Given the description of an element on the screen output the (x, y) to click on. 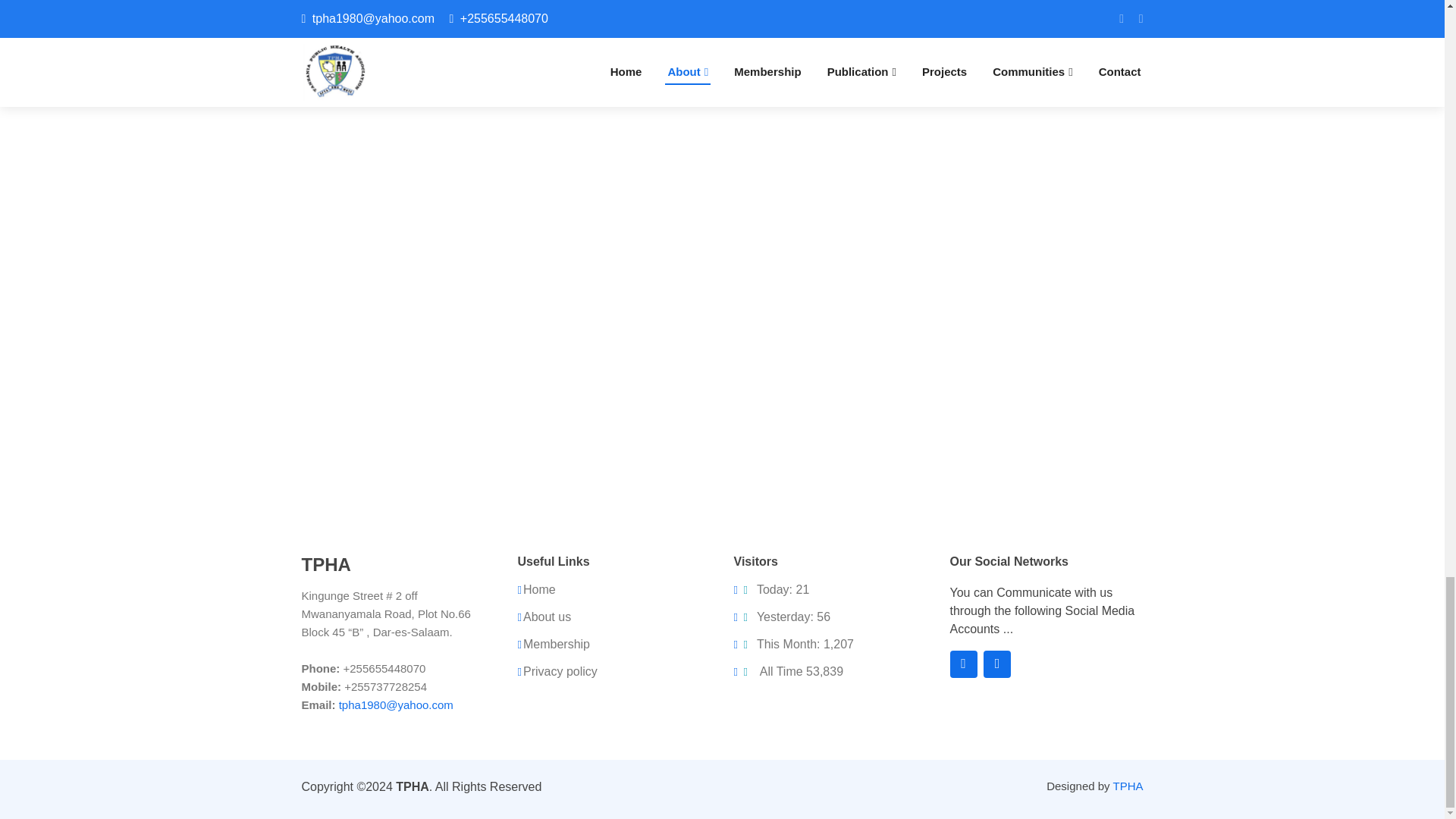
Membership (555, 644)
TPHA (1127, 785)
Home (539, 589)
 All Time 53,839 (791, 671)
 Today: 21 (774, 589)
About us (546, 616)
 This Month: 1,207 (796, 644)
Privacy policy (559, 671)
 Yesterday: 56 (784, 616)
